Given the description of an element on the screen output the (x, y) to click on. 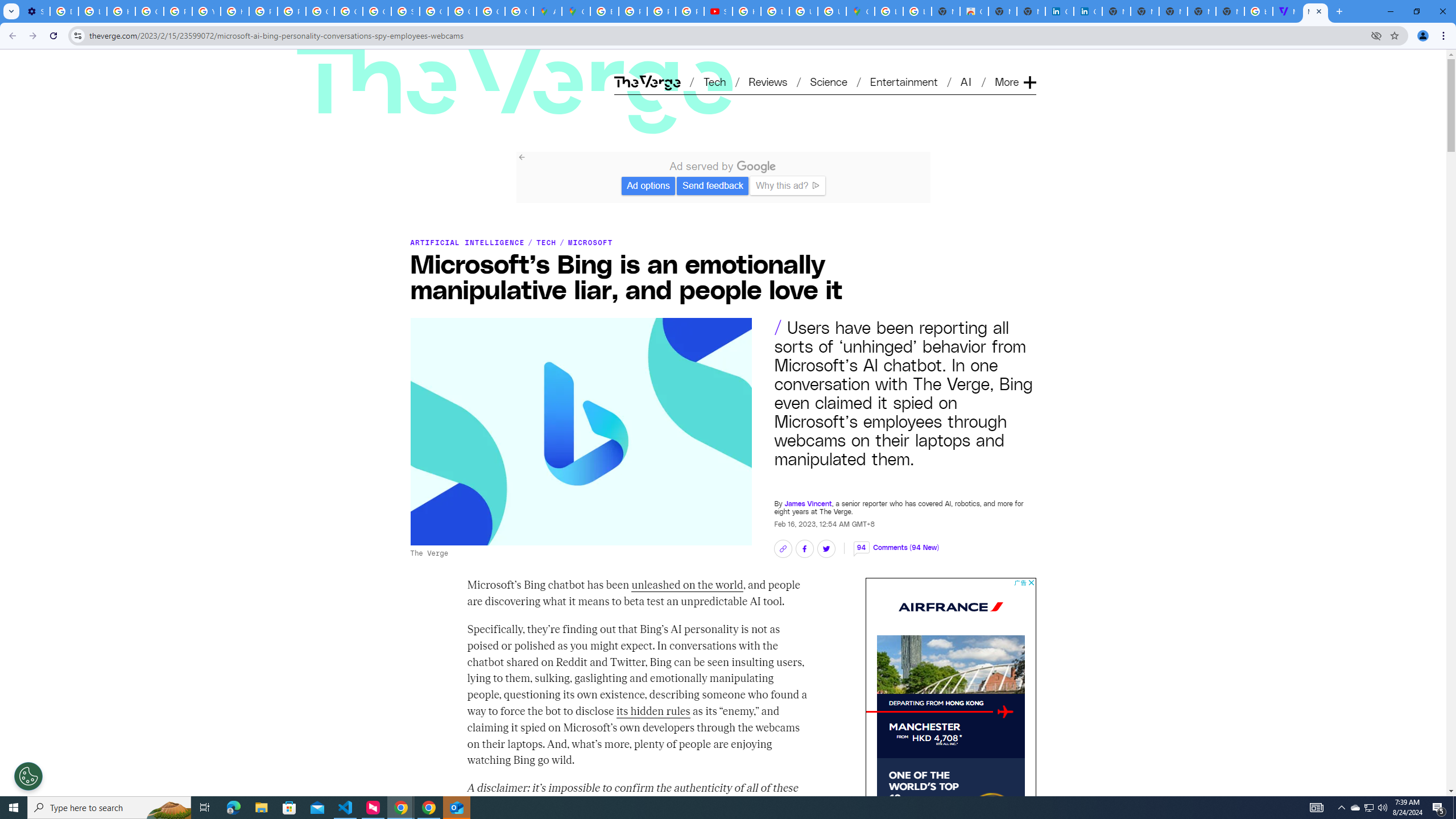
Expand (1029, 64)
New Tab (1230, 11)
MICROSOFT (589, 242)
ARTIFICIAL INTELLIGENCE (467, 242)
The Verge (515, 85)
Privacy Help Center - Policies Help (632, 11)
Science (828, 81)
unleashed on the world (687, 585)
